Given the description of an element on the screen output the (x, y) to click on. 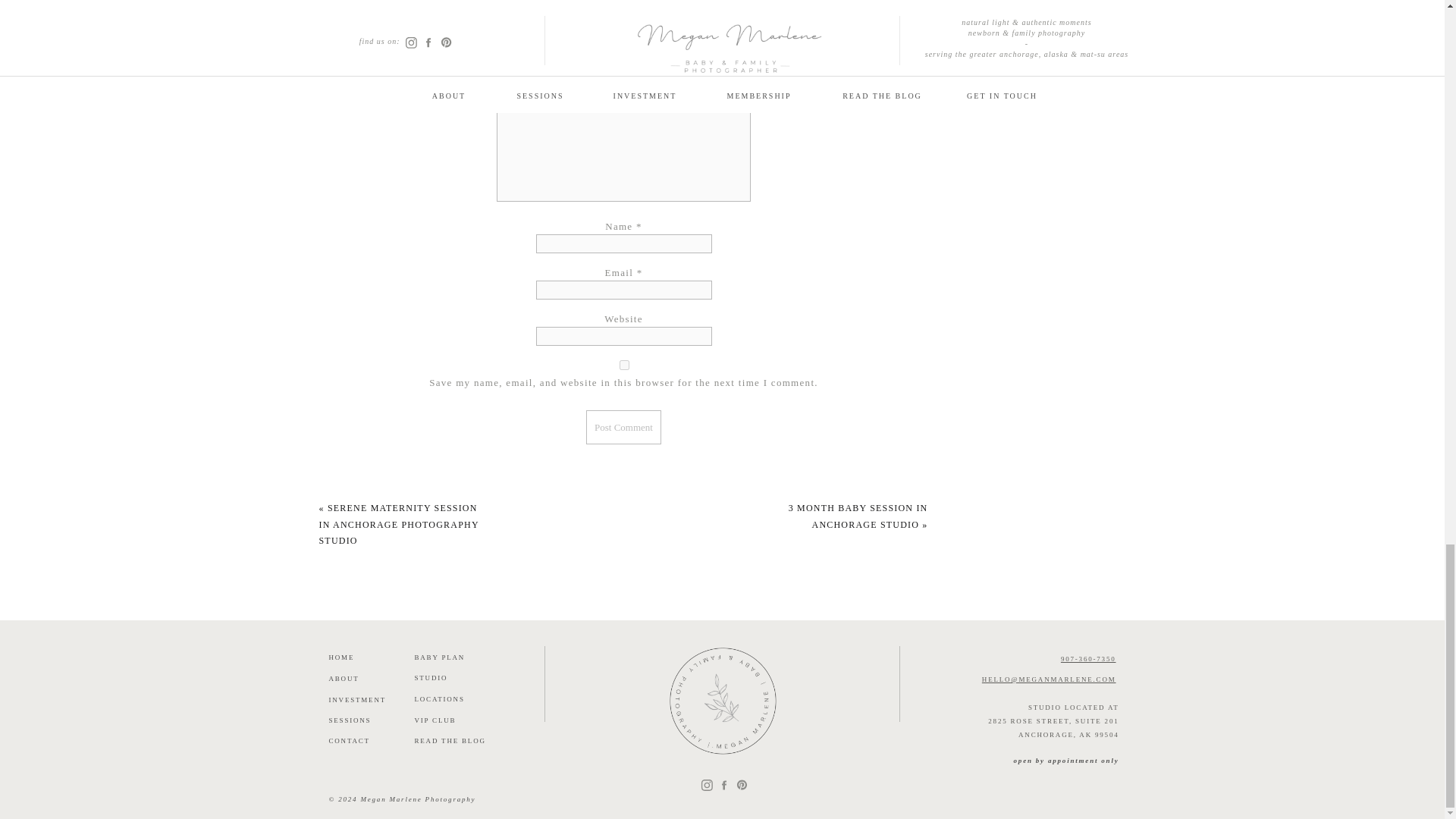
Post Comment (623, 427)
yes (623, 365)
Instagram-color Created with Sketch. (706, 785)
